Given the description of an element on the screen output the (x, y) to click on. 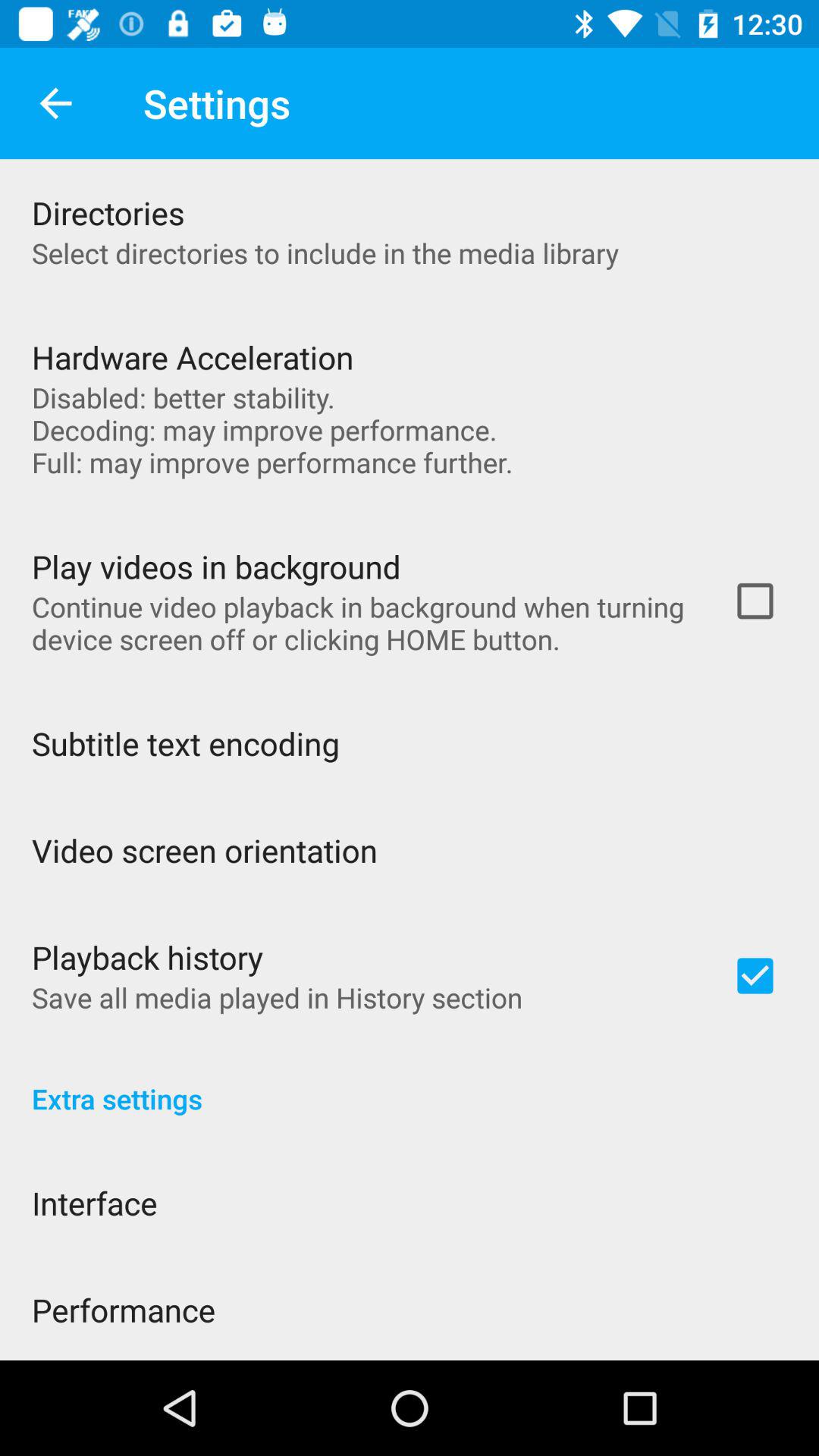
press app to the left of settings app (55, 103)
